Given the description of an element on the screen output the (x, y) to click on. 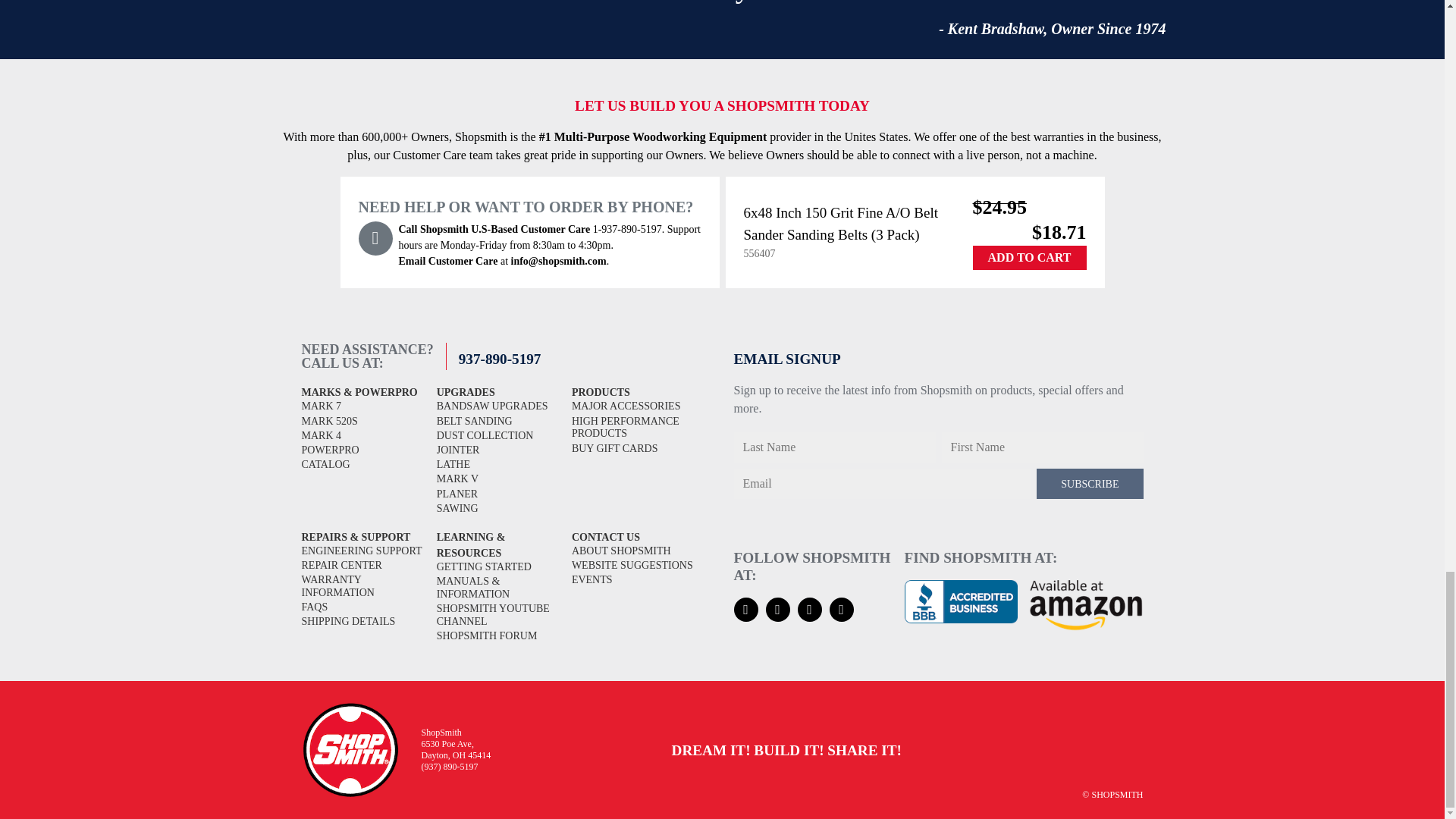
Subscribe (1089, 483)
